Given the description of an element on the screen output the (x, y) to click on. 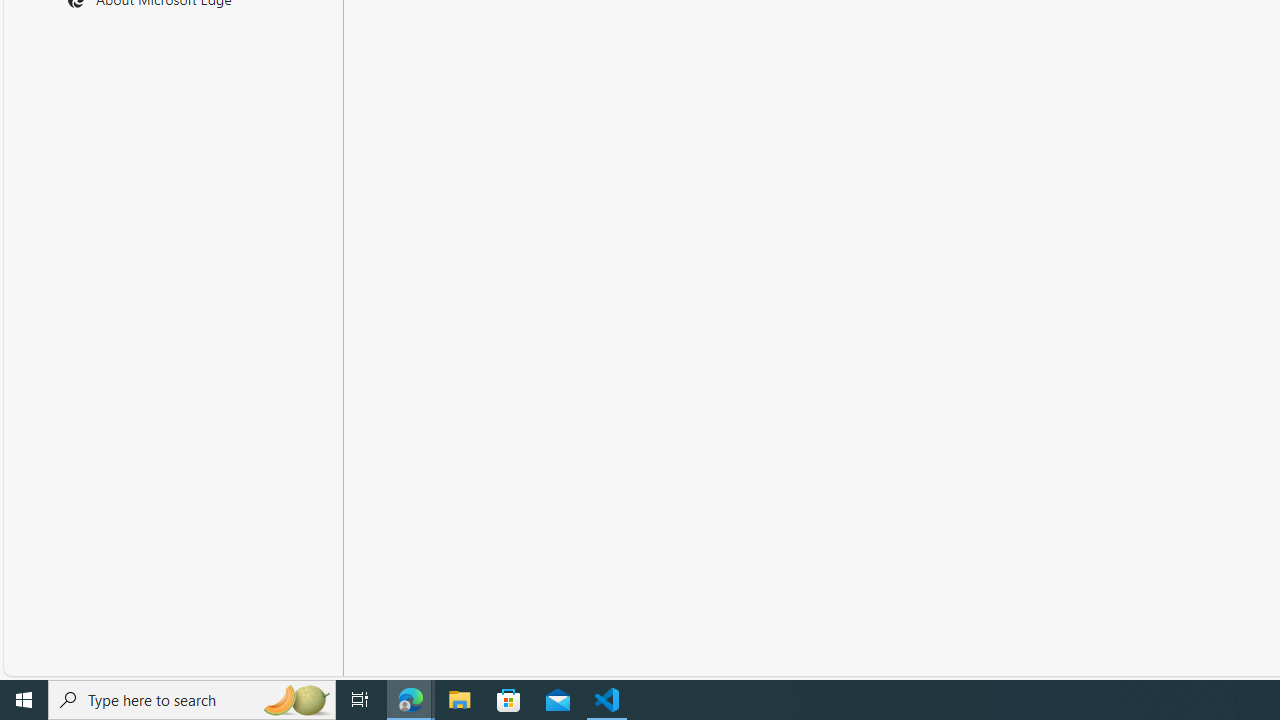
Microsoft Edge - 2 running windows (411, 699)
